Given the description of an element on the screen output the (x, y) to click on. 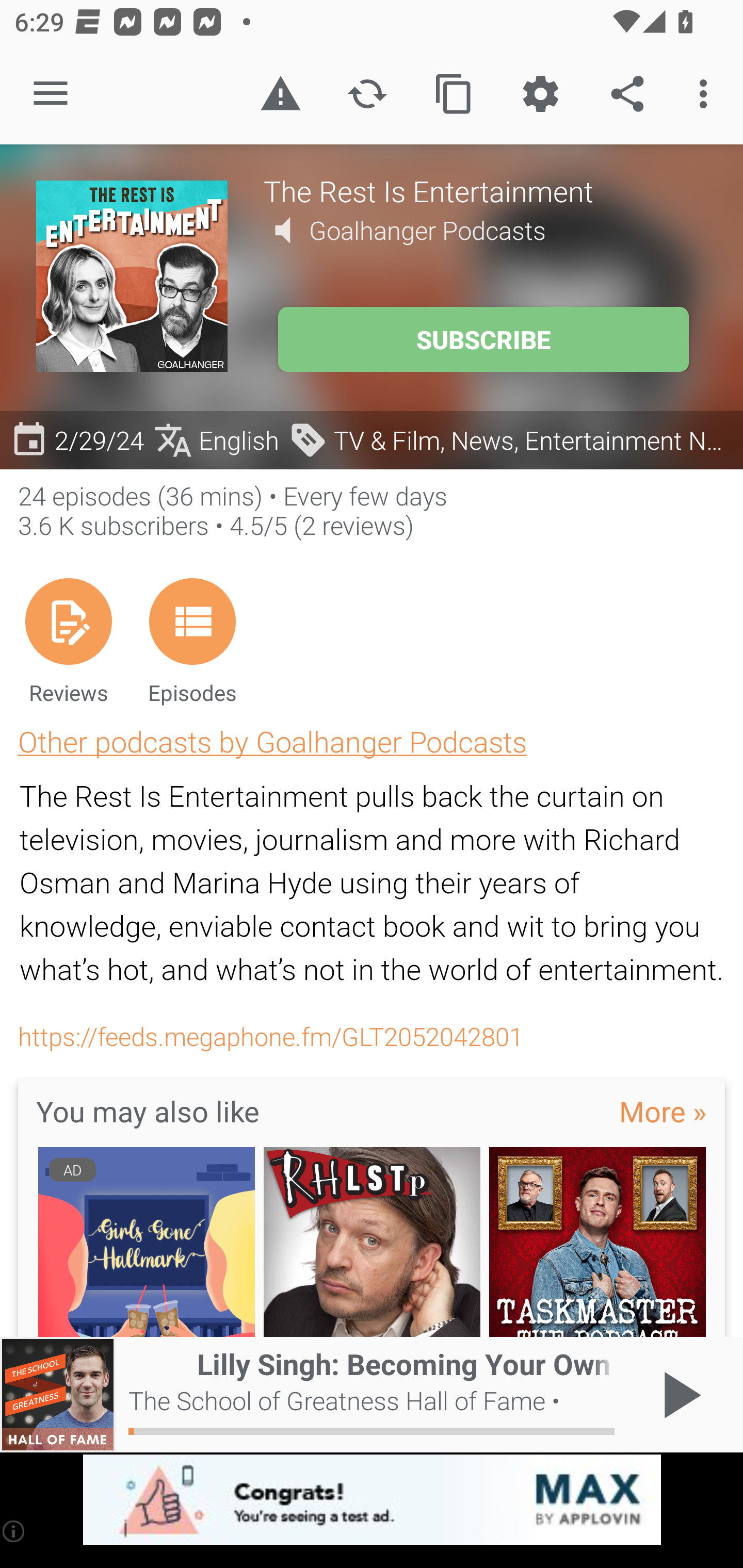
Open navigation sidebar (50, 93)
Report inappropriate content (280, 93)
Refresh podcast description (366, 93)
Copy feed url to clipboard (453, 93)
Custom Settings (540, 93)
Share the podcast (626, 93)
More options (706, 93)
The Rest Is Entertainment (484, 190)
Goalhanger Podcasts (427, 230)
SUBSCRIBE (482, 339)
TV & Film, News, Entertainment News, Arts, Books (511, 439)
Reviews (68, 640)
Episodes (192, 640)
Other podcasts by Goalhanger Podcasts (272, 740)
More » (662, 1110)
AD (145, 1242)
Play / Pause (677, 1394)
app-monetization (371, 1500)
(i) (14, 1531)
